Given the description of an element on the screen output the (x, y) to click on. 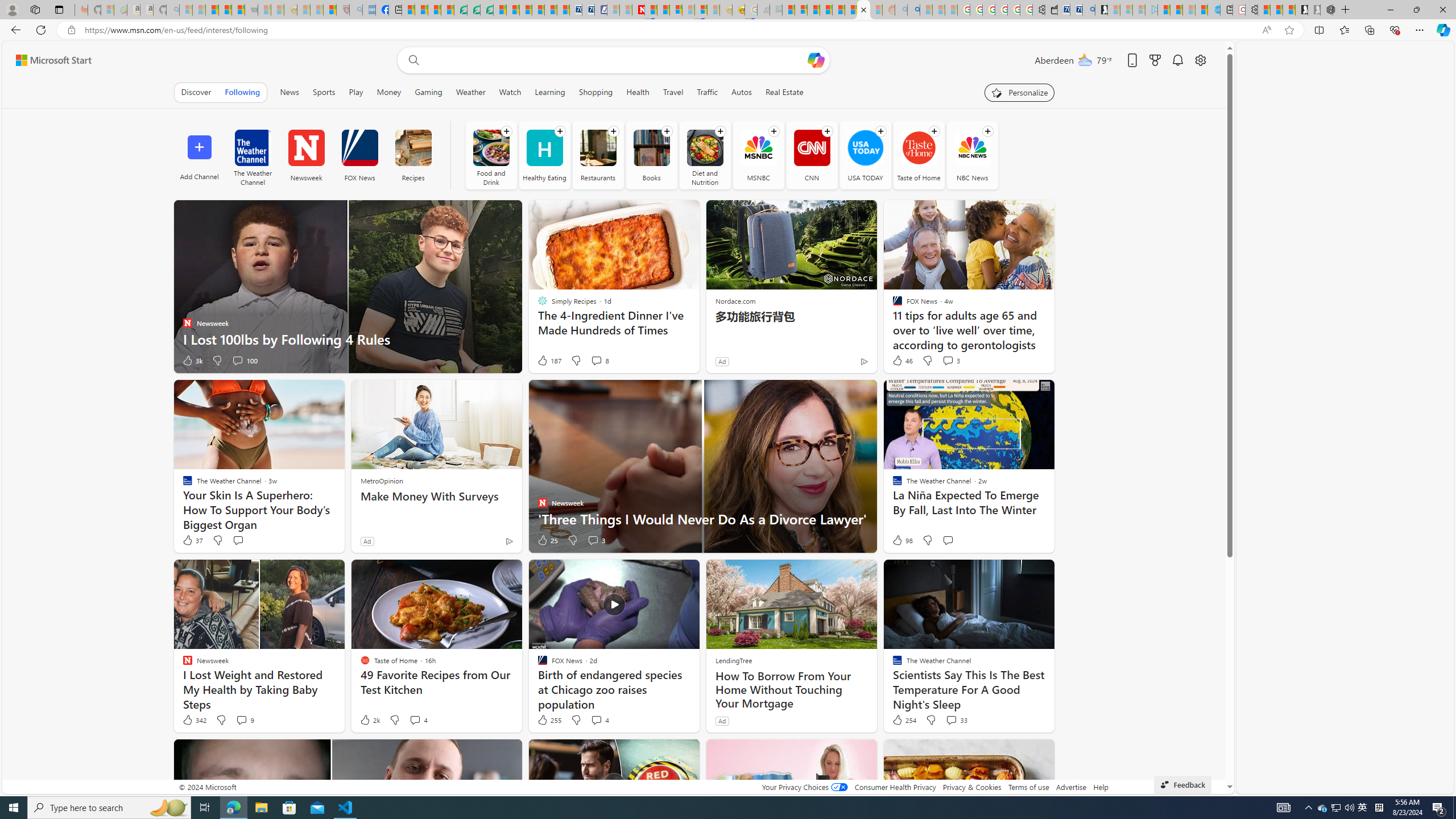
Newsweek (306, 155)
Add Channel (199, 155)
Food and Drink (491, 147)
NBC News (971, 147)
View comments 9 Comment (241, 719)
342 Like (193, 719)
Microsoft Word - consumer-privacy address update 2.2021 (486, 9)
187 Like (548, 360)
The Weather Channel (252, 147)
View comments 100 Comment (244, 360)
